Given the description of an element on the screen output the (x, y) to click on. 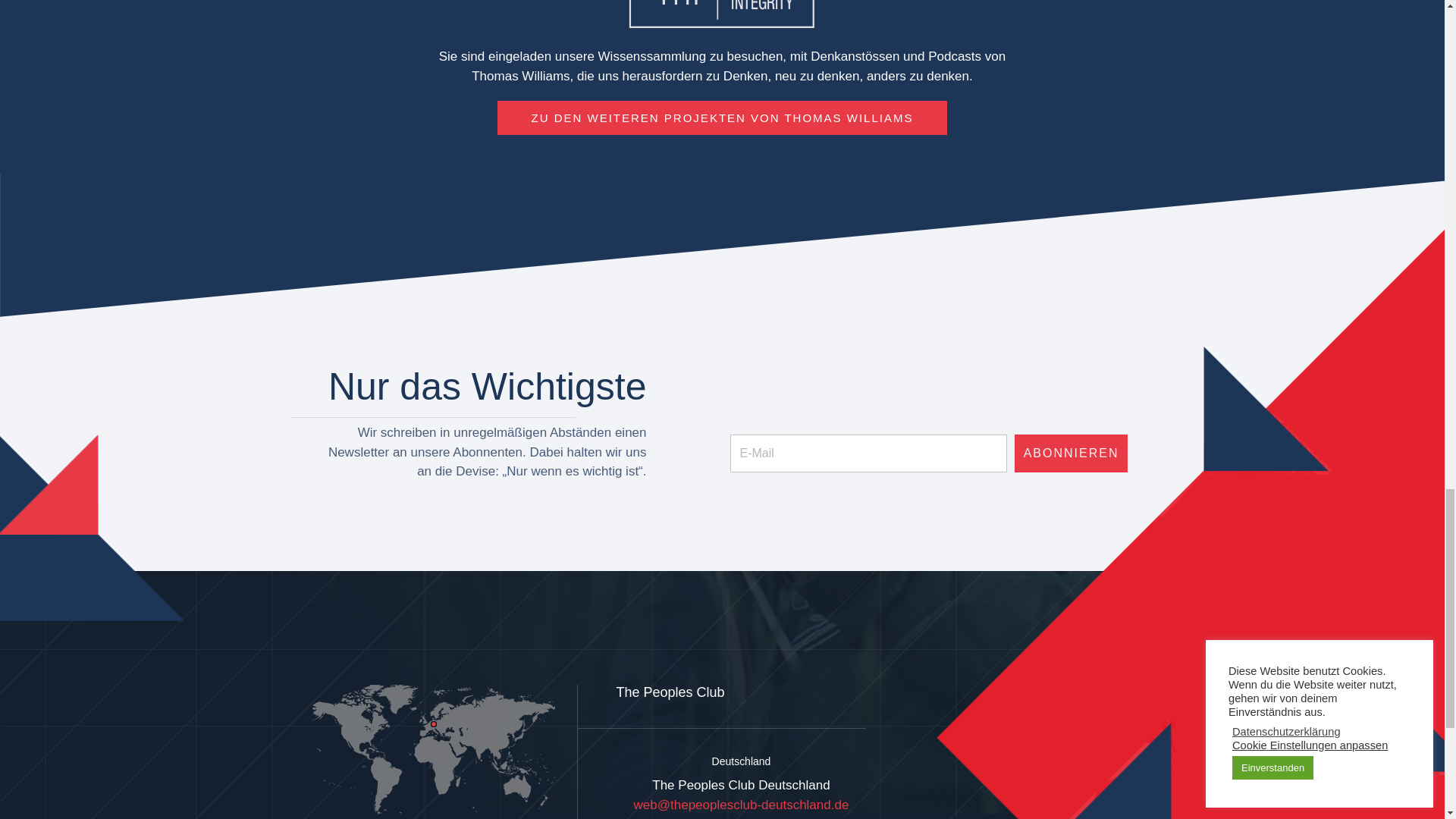
Abonnieren (1071, 453)
ZU DEN WEITEREN PROJEKTEN VON THOMAS WILLIAMS (722, 117)
Abonnieren (1071, 453)
